Given the description of an element on the screen output the (x, y) to click on. 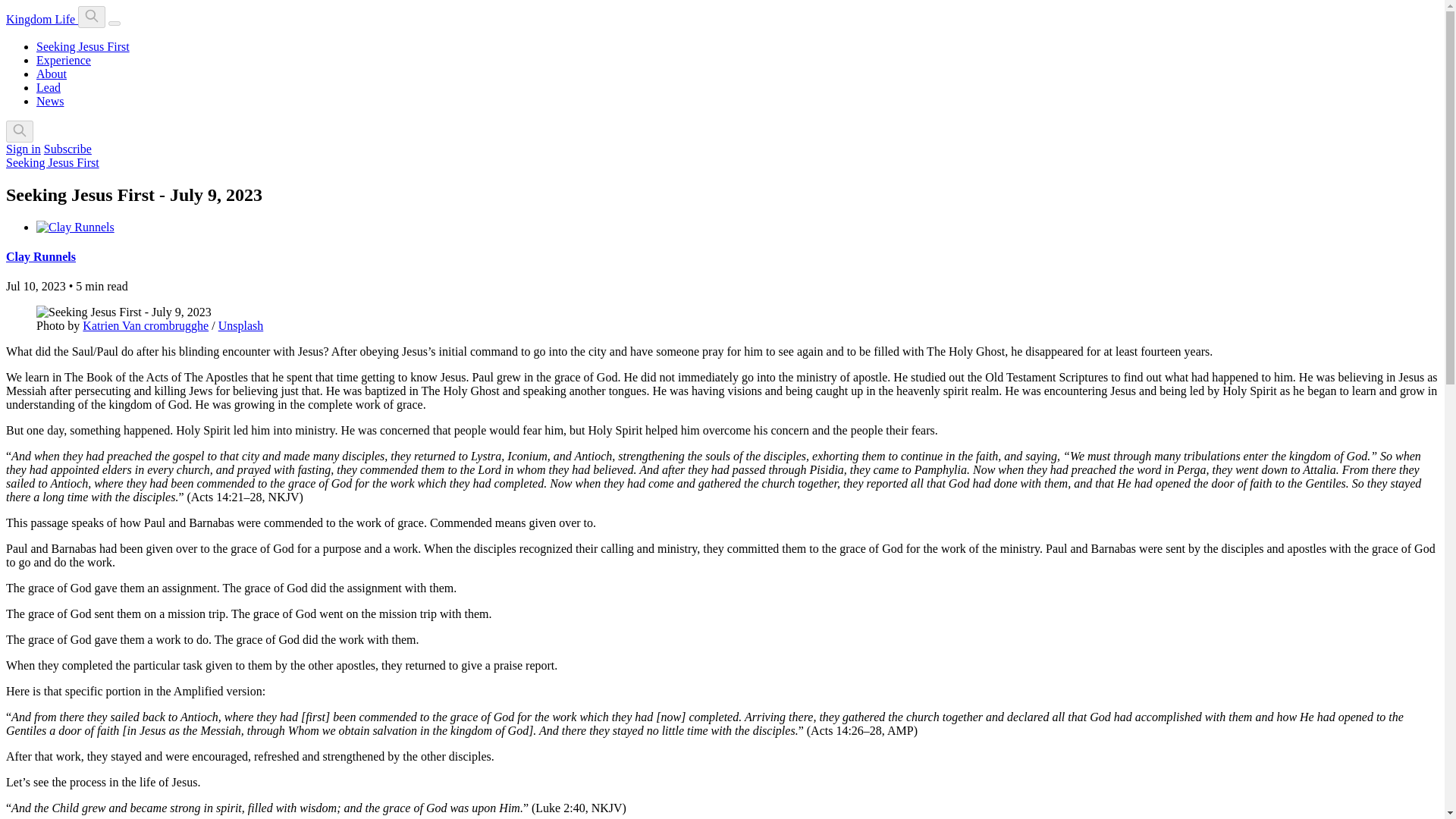
Kingdom Life (41, 19)
Katrien Van crombrugghe (145, 325)
Seeking Jesus First (82, 46)
Experience (63, 60)
About (51, 73)
Subscribe (67, 148)
Clay Runnels (40, 256)
Lead (48, 87)
News (50, 101)
Seeking Jesus First (52, 162)
